Given the description of an element on the screen output the (x, y) to click on. 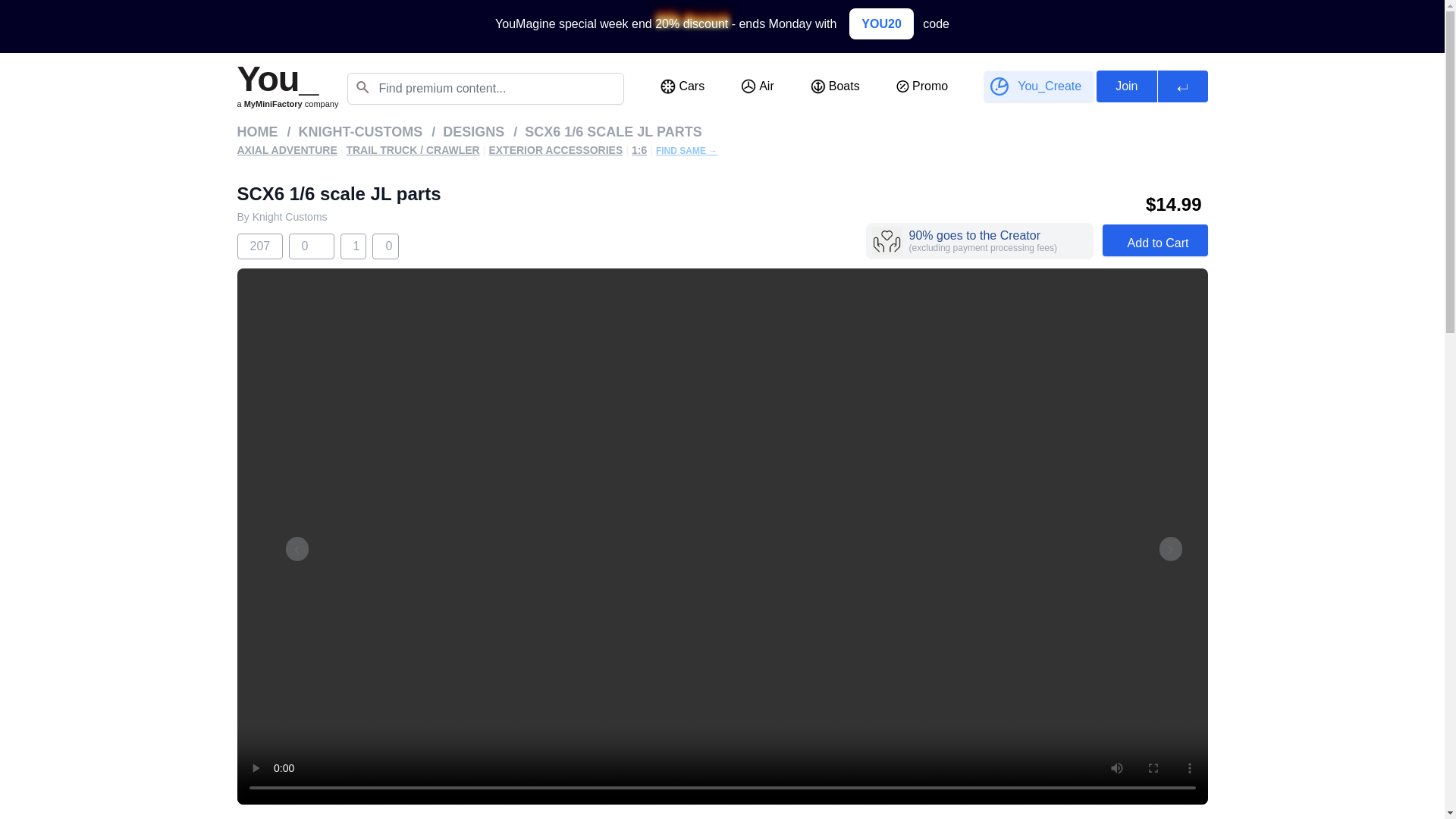
0 (301, 246)
HOME (256, 131)
Air (757, 86)
DESIGNS (472, 131)
EXTERIOR ACCESSORIES (555, 150)
  Add to Cart (1155, 240)
 Promo (922, 86)
Knight Customs (289, 216)
Boats (835, 86)
1:6 (638, 150)
Cars (681, 86)
0 (385, 246)
Join (1126, 86)
 YOU20 (881, 23)
AXIAL ADVENTURE (285, 150)
